Given the description of an element on the screen output the (x, y) to click on. 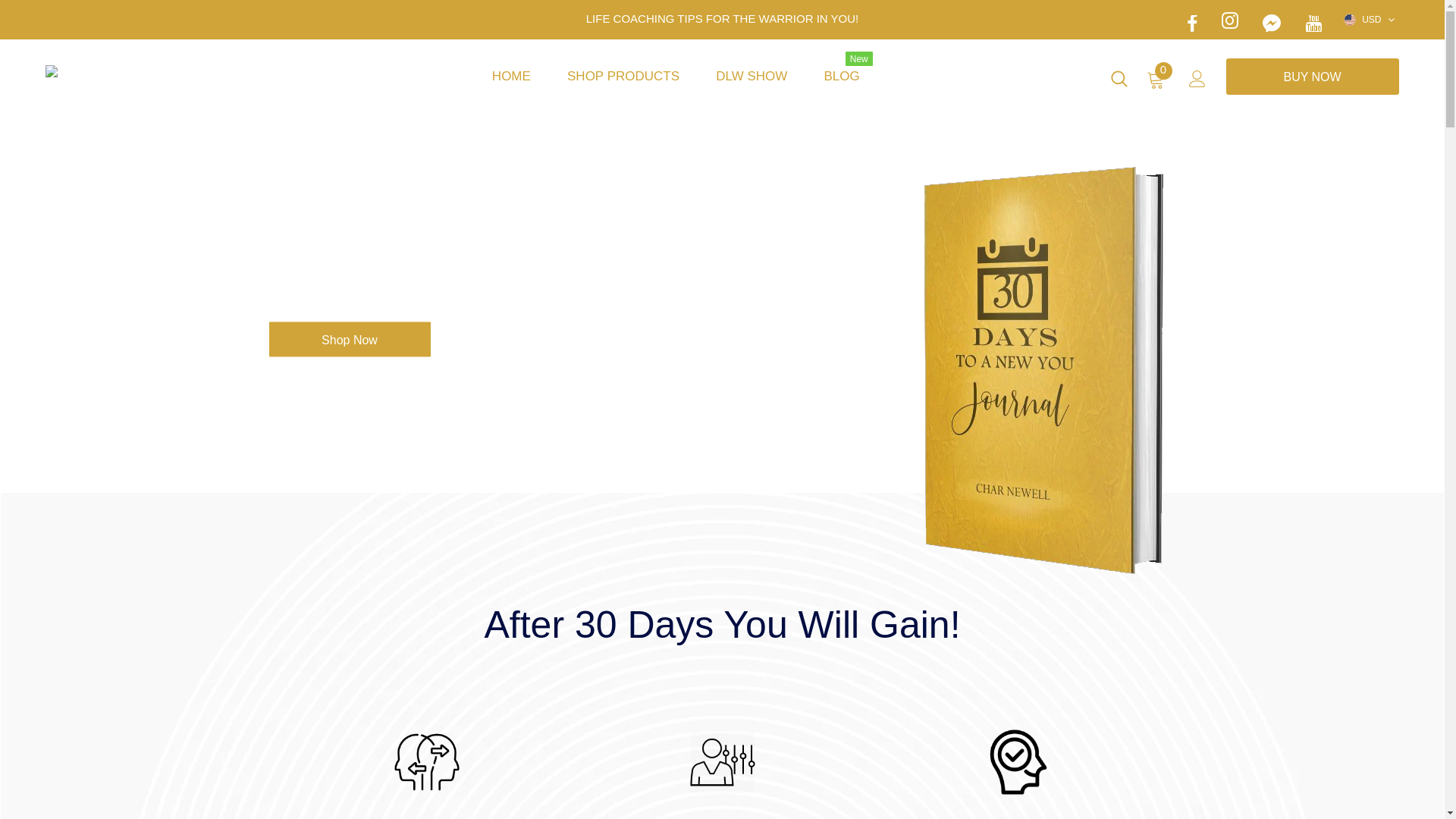
messenger Element type: hover (1271, 20)
Logo Element type: hover (146, 67)
Shop Now Element type: text (348, 338)
Instagram Element type: hover (1229, 20)
HOME Element type: text (511, 76)
Search Icon Element type: hover (1118, 82)
user Element type: text (1197, 82)
0 Element type: text (1155, 84)
BUY NOW Element type: text (1312, 76)
DLW SHOW Element type: text (751, 76)
YouTube Element type: hover (1313, 23)
SHOP PRODUCTS Element type: text (623, 76)
Facebook Element type: hover (1191, 23)
BLOG
New Element type: text (841, 76)
